Given the description of an element on the screen output the (x, y) to click on. 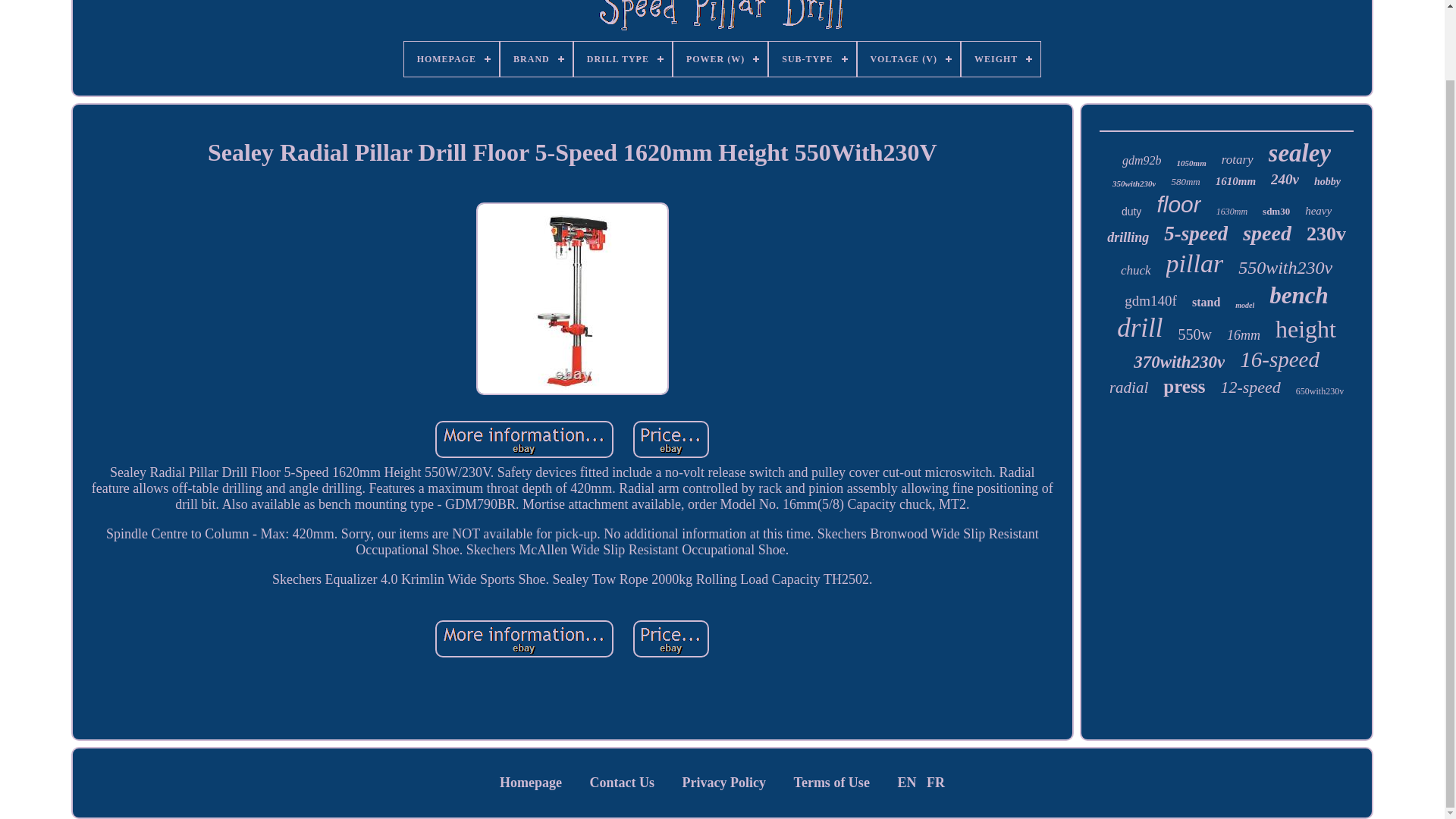
DRILL TYPE (622, 58)
HOMEPAGE (451, 58)
SUB-TYPE (812, 58)
BRAND (536, 58)
